Given the description of an element on the screen output the (x, y) to click on. 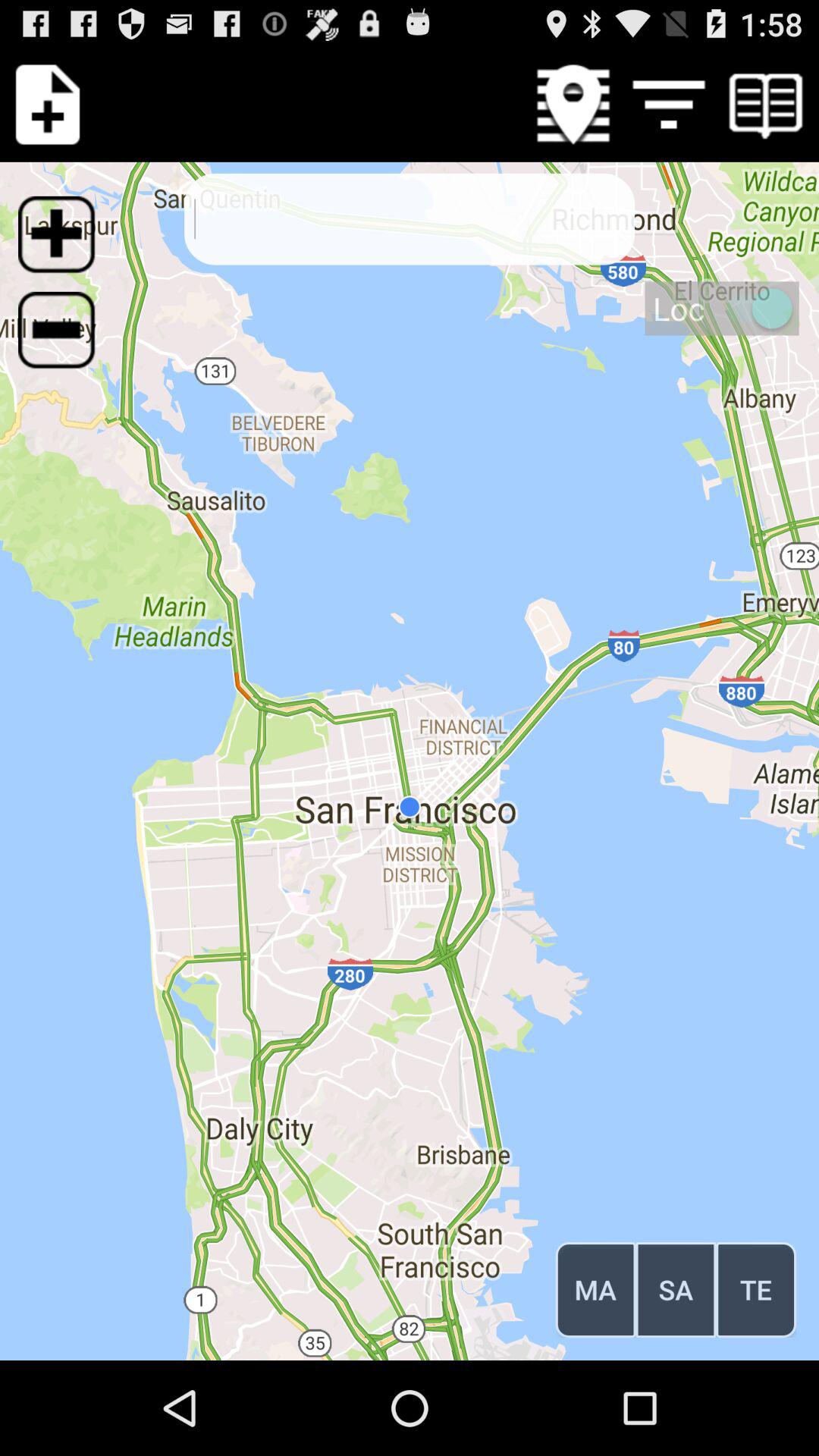
click the item next to the sa item (756, 1289)
